Given the description of an element on the screen output the (x, y) to click on. 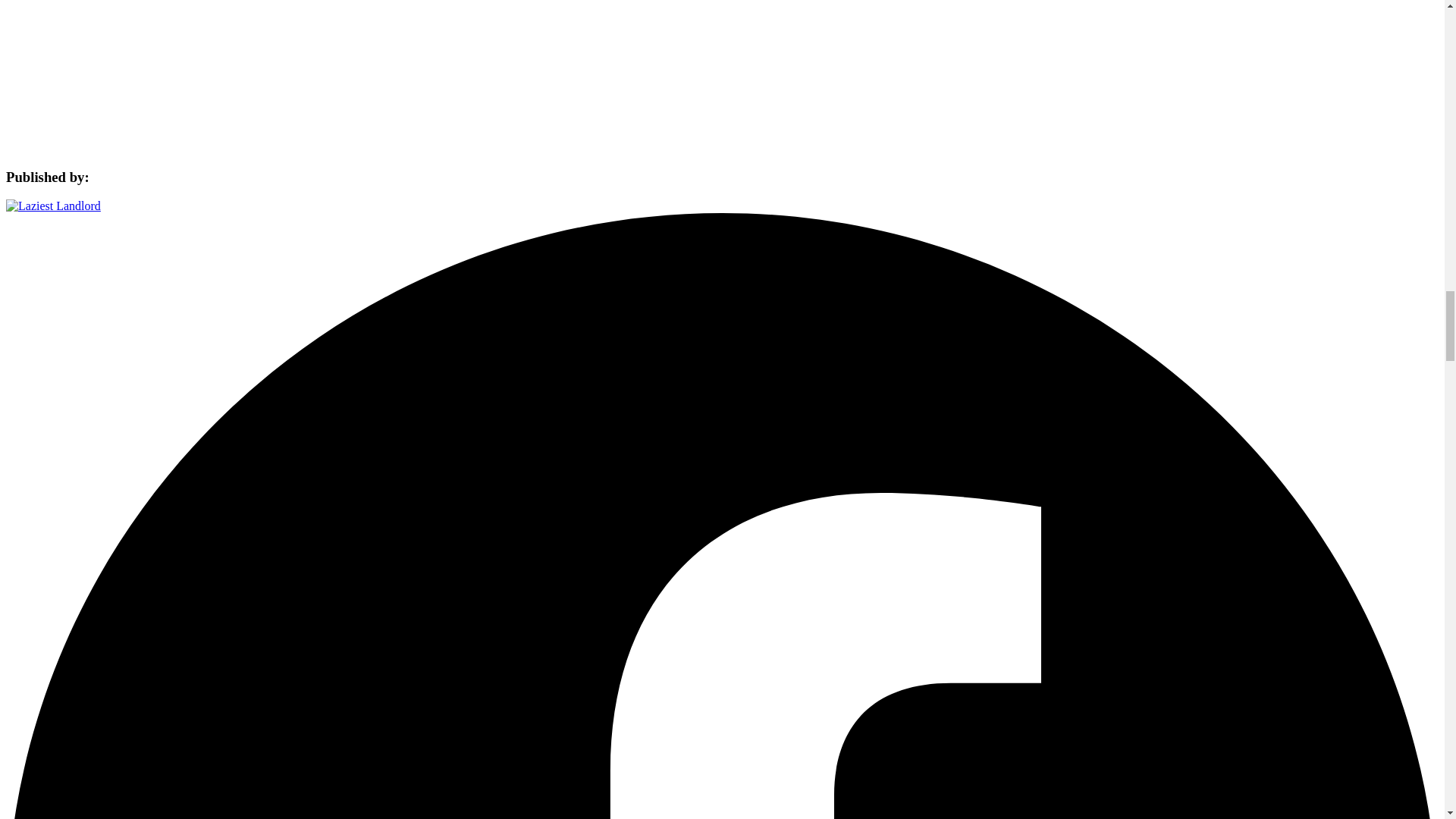
Laziest Landlord (52, 205)
